Given the description of an element on the screen output the (x, y) to click on. 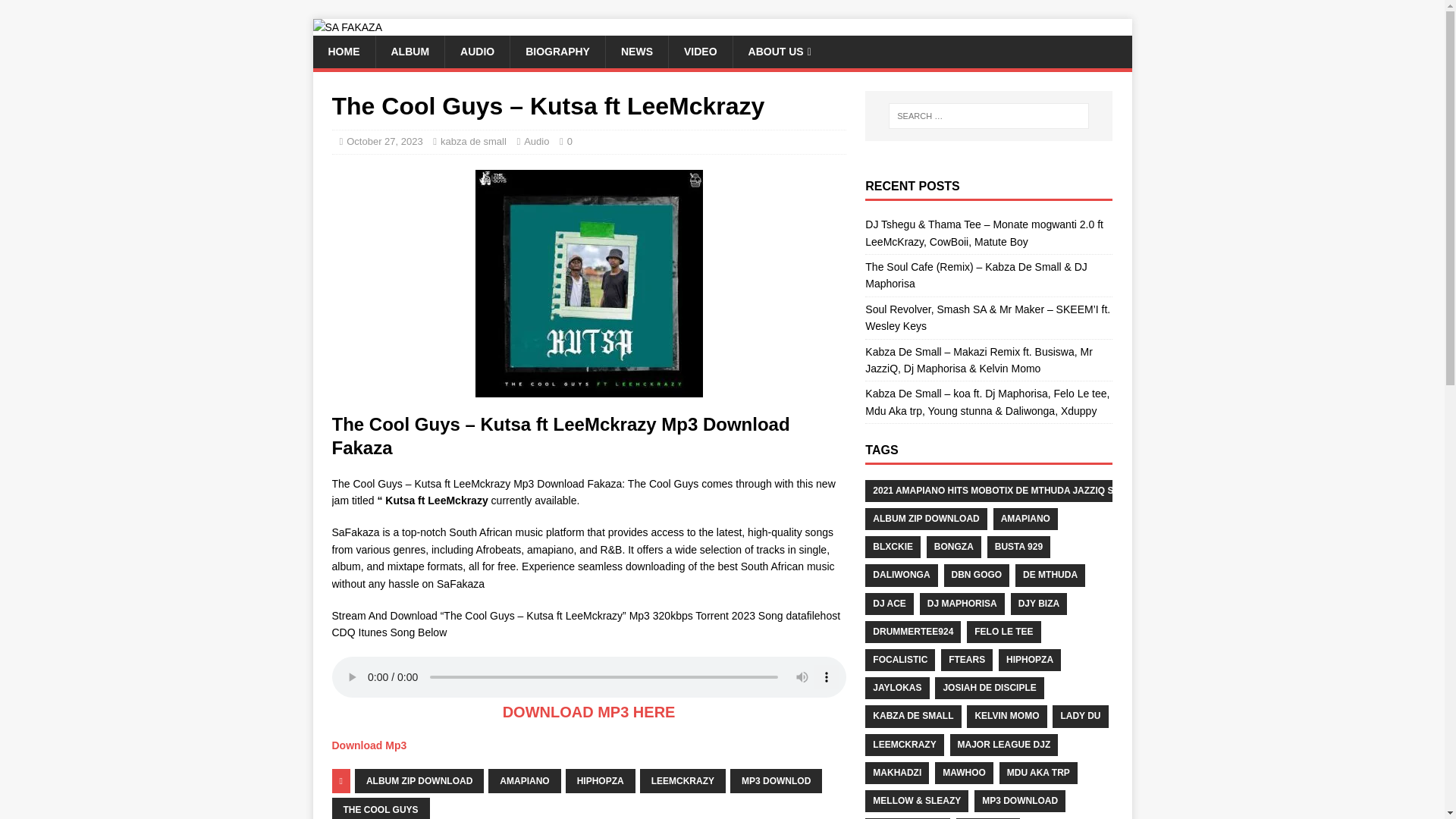
ABOUT US (779, 51)
BIOGRAPHY (557, 51)
Download Mp3 (369, 745)
ALBUM ZIP DOWNLOAD (925, 518)
0 (569, 141)
VIDEO (700, 51)
AUDIO (476, 51)
LEEMCKRAZY (682, 781)
Audio (536, 141)
AMAPIANO (523, 781)
October 27, 2023 (384, 141)
DOWNLOAD MP3 HERE (588, 711)
MP3 DOWNLOD (776, 781)
ALBUM (409, 51)
